Given the description of an element on the screen output the (x, y) to click on. 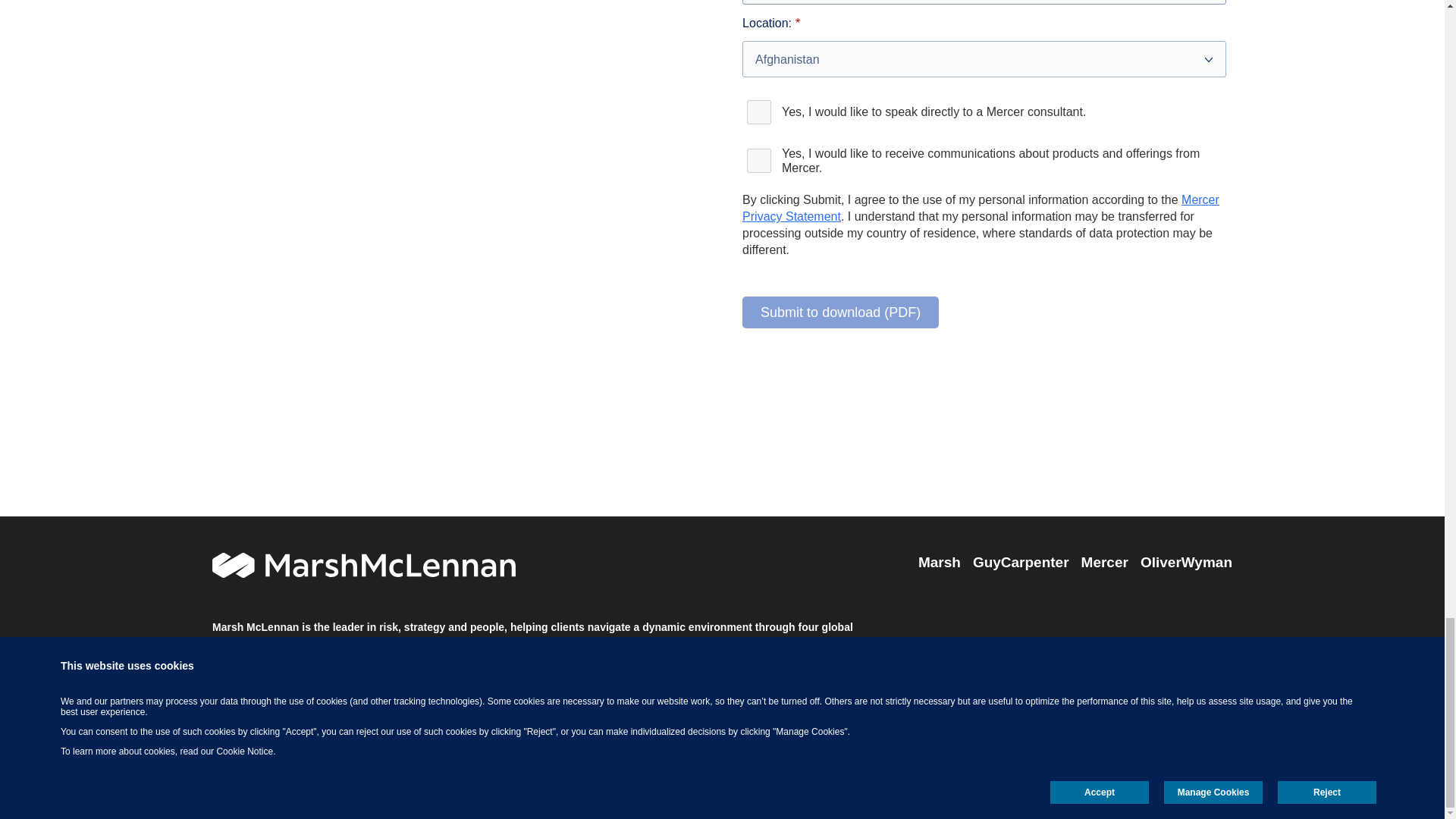
Accessibility (414, 671)
Twitter (1185, 704)
yes (759, 111)
Cookie Notice (498, 671)
Accessibility (414, 671)
Privacy Notice (330, 671)
Twitter (1185, 704)
Privacy Notice (330, 671)
yes (759, 160)
GuyCarpenter (1020, 562)
Manage Cookies (592, 671)
Please select your work location from the dropdown list. (983, 58)
Cookie Notice (498, 671)
Terms of Use (243, 671)
